Given the description of an element on the screen output the (x, y) to click on. 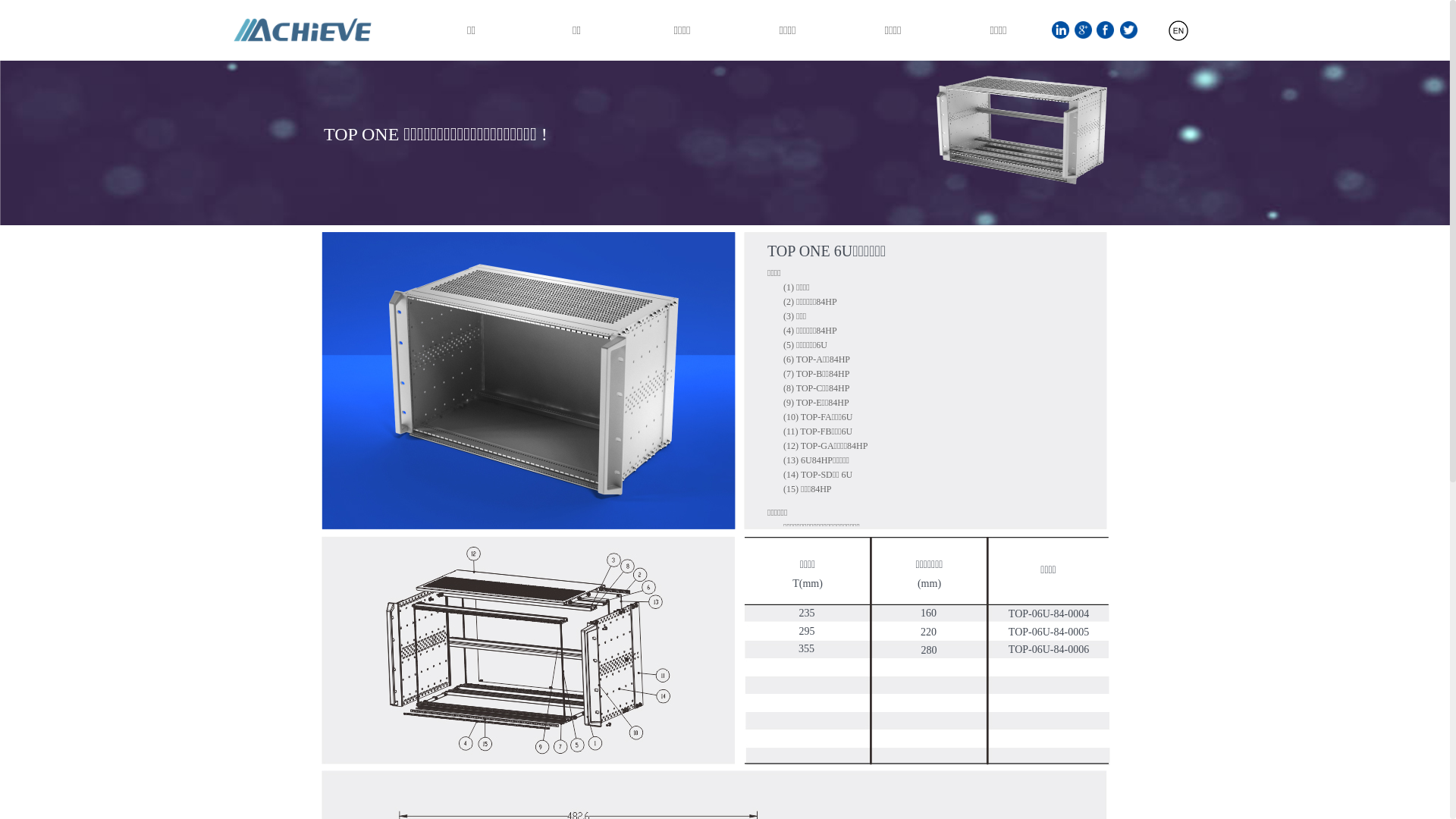
English Element type: text (1147, 36)
twitter3 Element type: hover (1128, 29)
4 Element type: hover (926, 650)
1 Element type: hover (1021, 129)
logo Element type: hover (301, 29)
google0 Element type: hover (1083, 29)
3 Element type: hover (527, 650)
1 Element type: hover (528, 380)
1 Element type: hover (1178, 30)
1 Element type: hover (1060, 29)
2 Element type: hover (925, 380)
facebook Element type: hover (1104, 29)
